Given the description of an element on the screen output the (x, y) to click on. 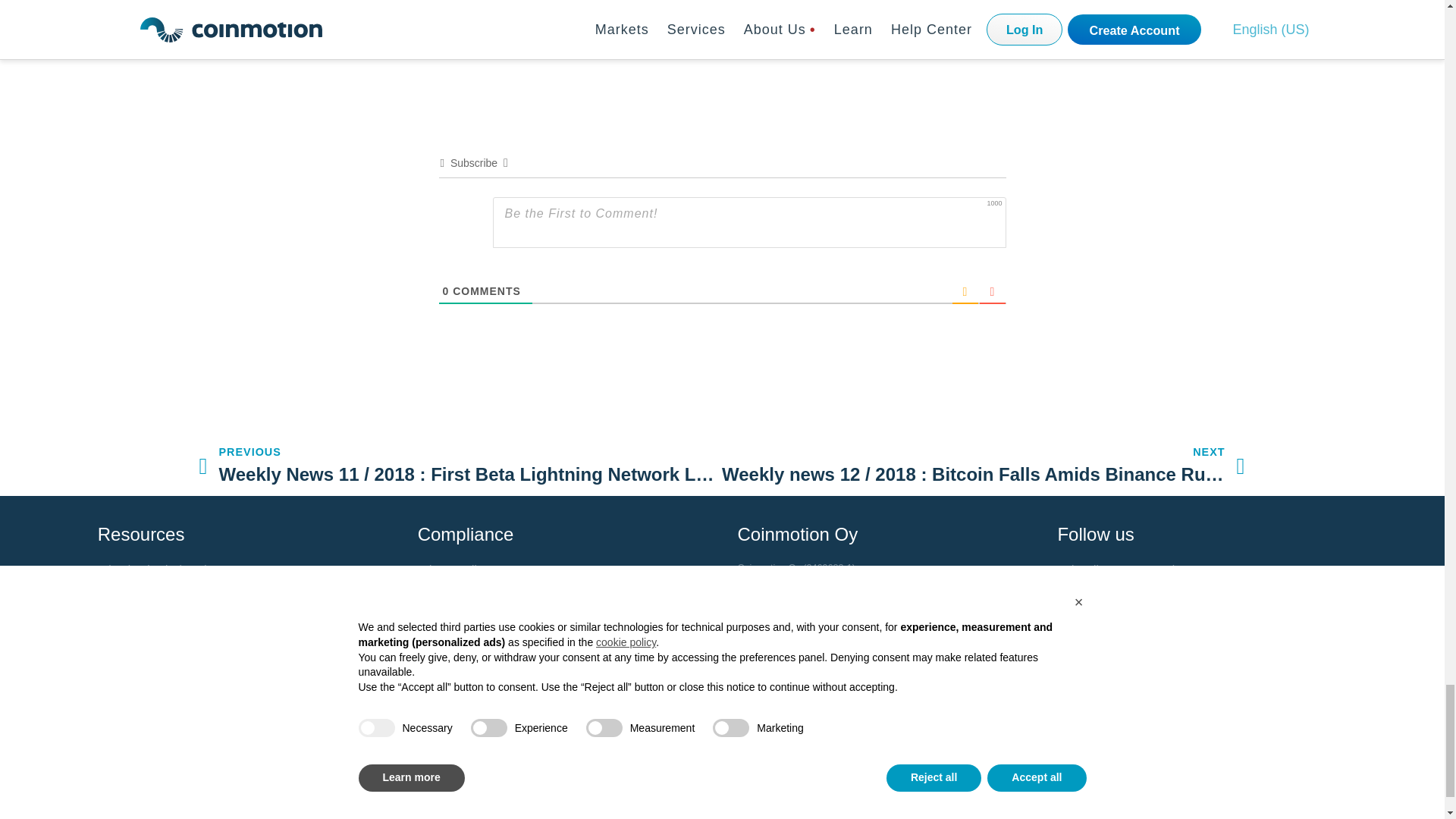
0 (445, 291)
